Given the description of an element on the screen output the (x, y) to click on. 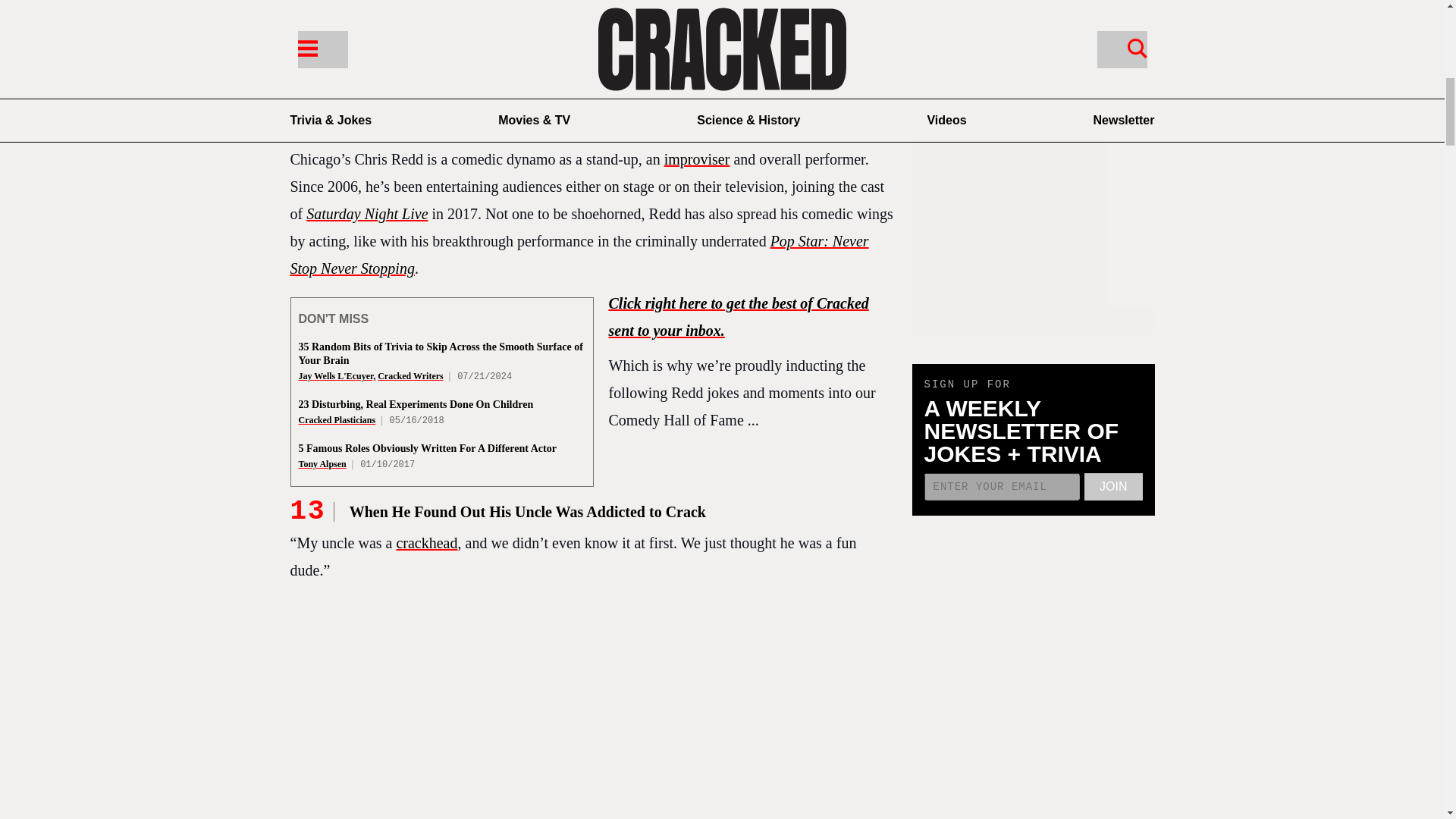
Cracked Writers (410, 376)
Pop Star: Never Stop Never Stopping (578, 254)
Saturday Night Live (366, 213)
improviser (696, 158)
Erik Barnes (387, 91)
Jay Wells L'Ecuyer, (336, 376)
